Given the description of an element on the screen output the (x, y) to click on. 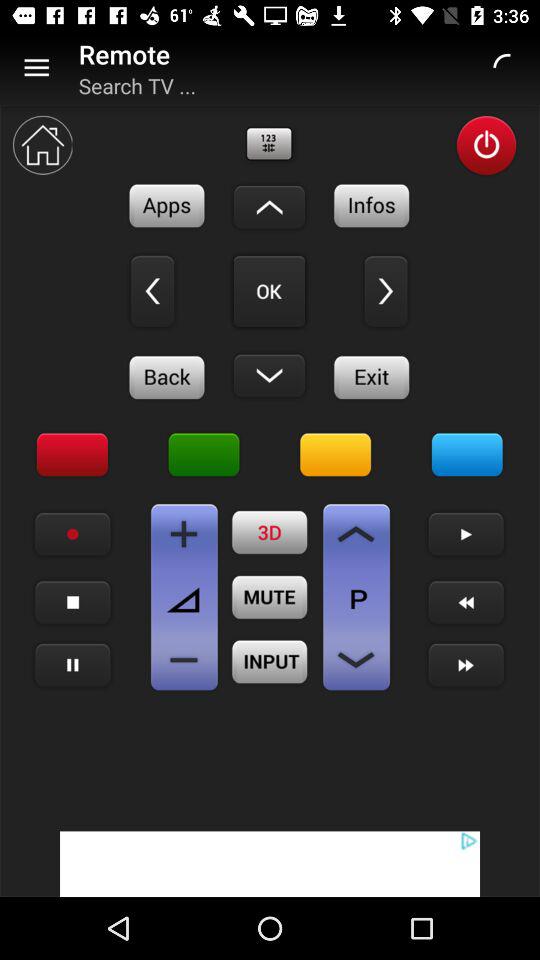
apps option (167, 205)
